Given the description of an element on the screen output the (x, y) to click on. 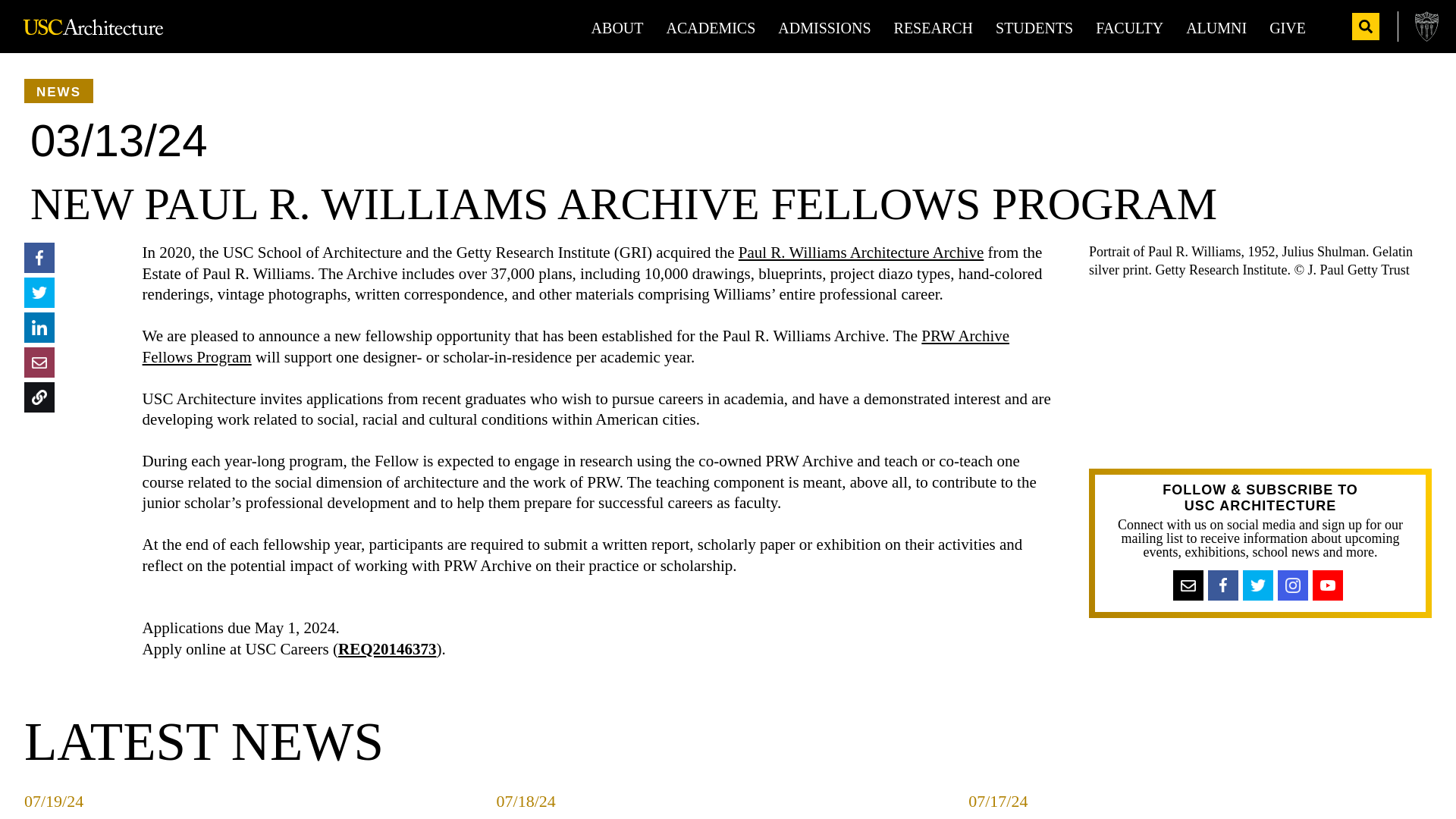
Subscribe to our mailing list (1194, 585)
YouTube (1334, 585)
Twitter (1264, 585)
Share on Facebook (39, 257)
Instagram (1299, 585)
Facebook (1222, 585)
Share on Twitter (39, 292)
Share on LinkedIn (39, 327)
ACADEMICS (711, 27)
Share via Email (39, 362)
Copy Link to Clipboard (39, 396)
ABOUT (617, 27)
